Given the description of an element on the screen output the (x, y) to click on. 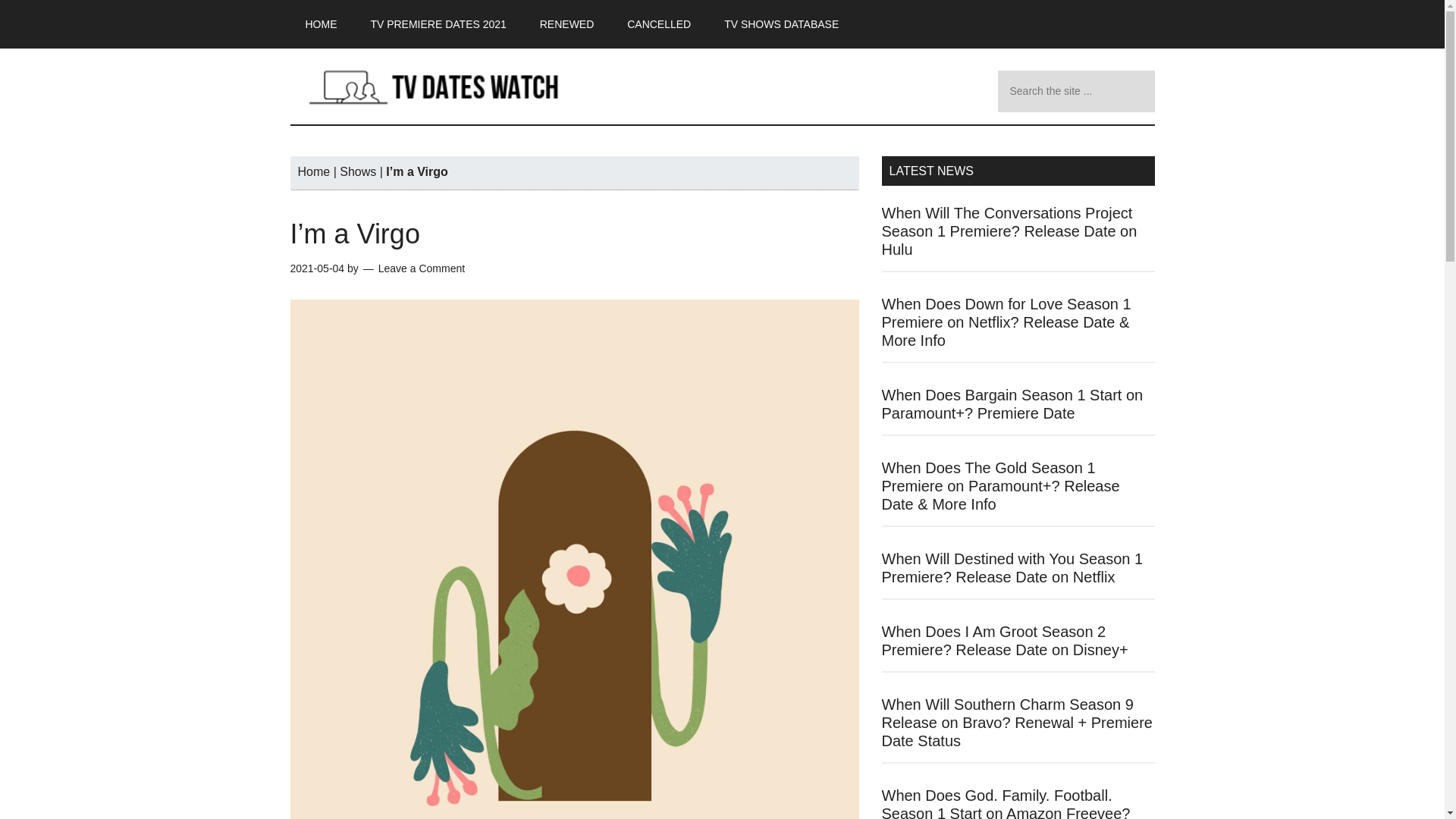
HOME (320, 24)
TV PREMIERE DATES 2021 (438, 24)
RENEWED (567, 24)
CANCELLED (658, 24)
Home (313, 171)
Shows (357, 171)
Leave a Comment (421, 268)
TVDatesWatch.com (433, 86)
